Given the description of an element on the screen output the (x, y) to click on. 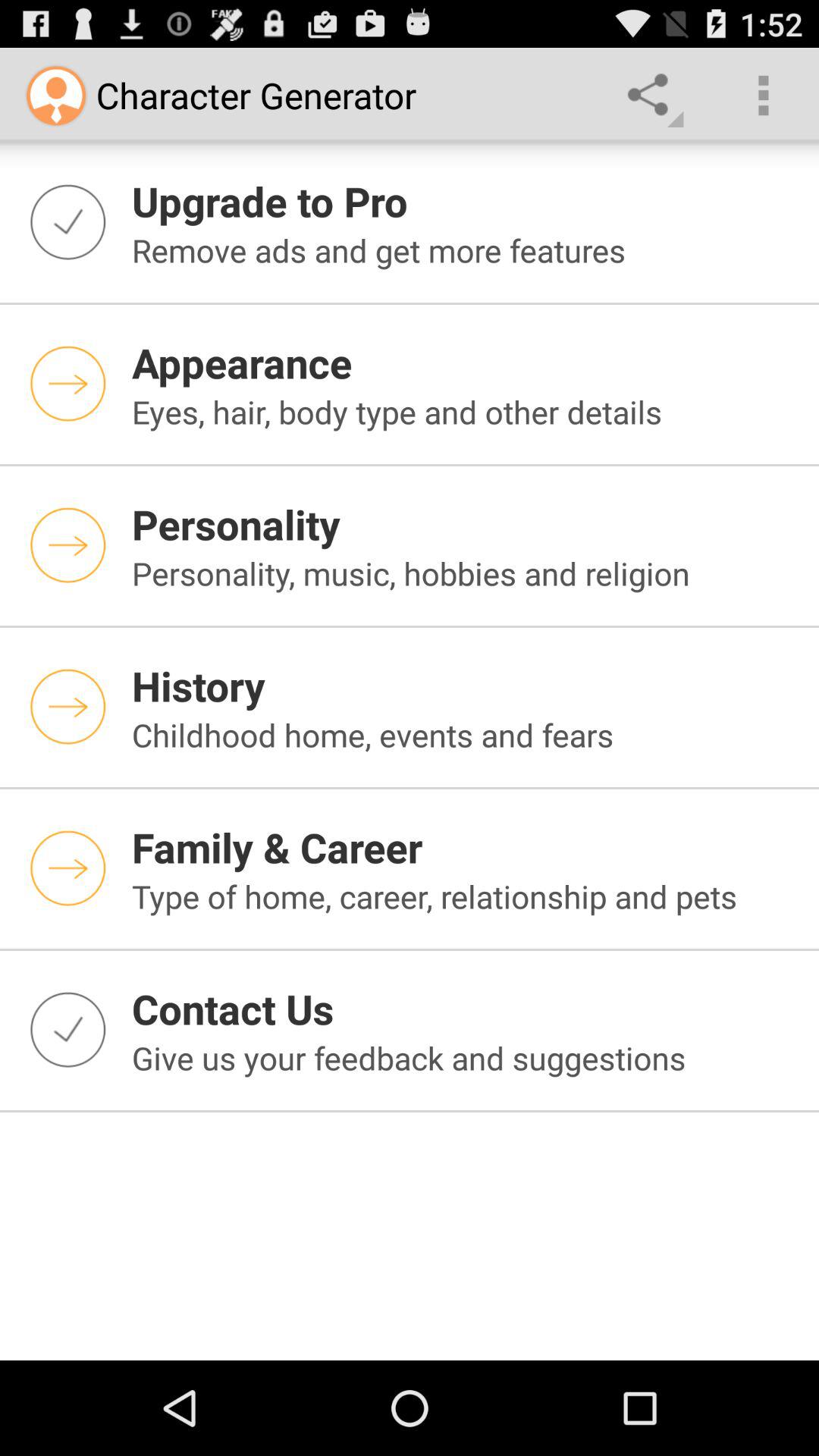
tap app below the type of home icon (465, 1008)
